Given the description of an element on the screen output the (x, y) to click on. 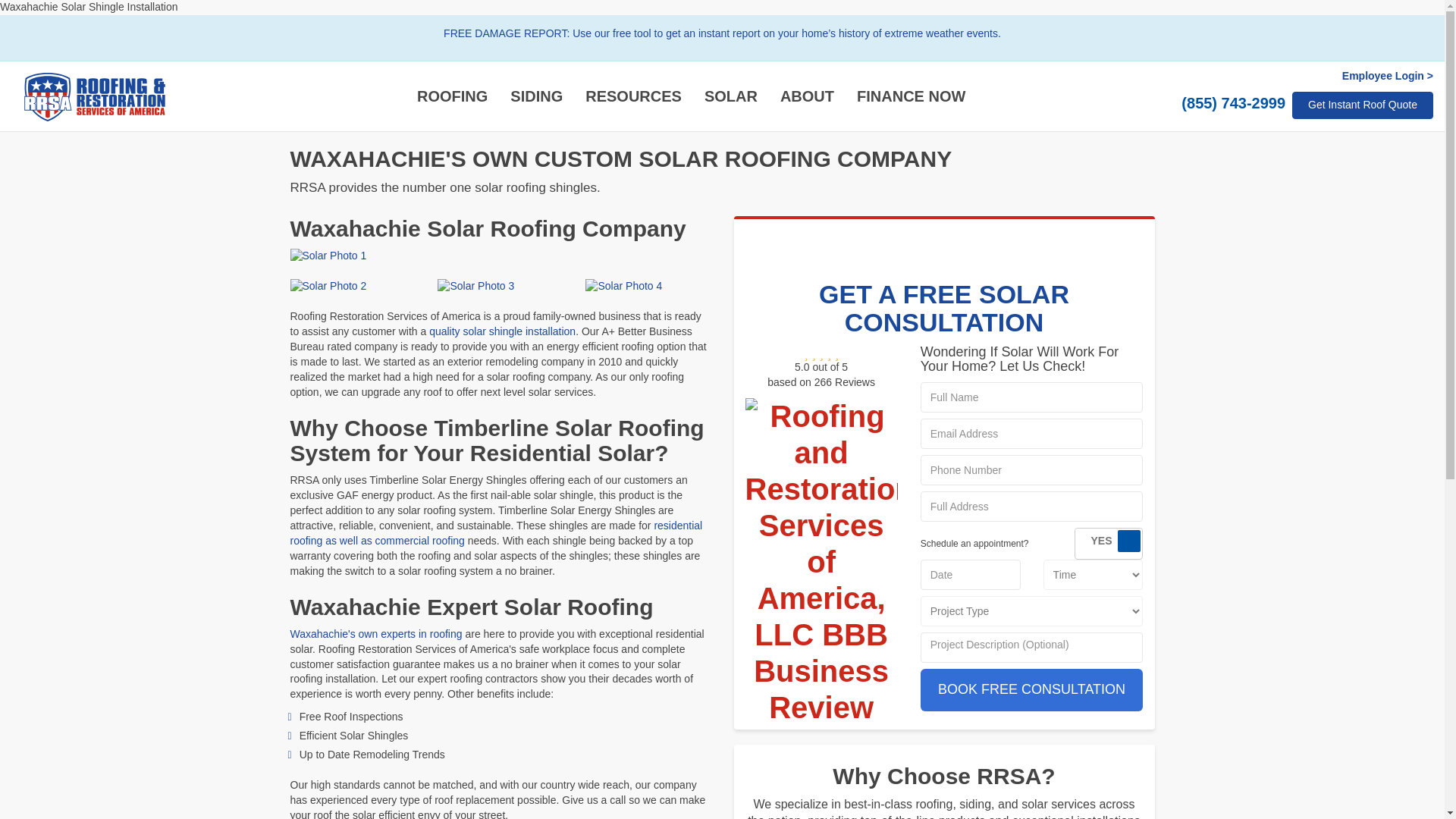
SIDING (536, 96)
RESOURCES (633, 96)
ABOUT (806, 96)
Get Instant Roof Quote (1362, 104)
SOLAR (730, 96)
ROOFING (452, 96)
